Given the description of an element on the screen output the (x, y) to click on. 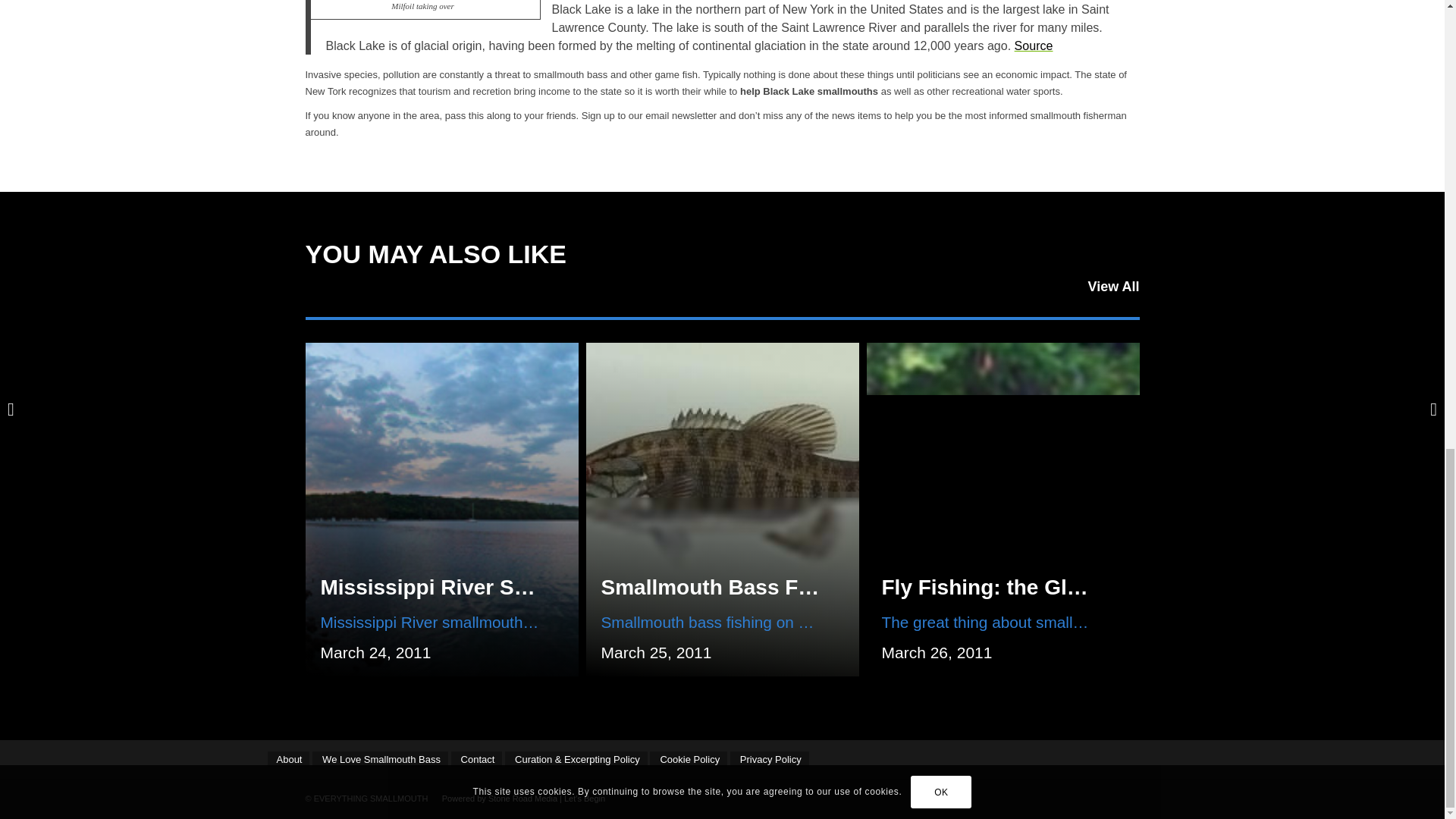
View All (1112, 286)
About (287, 759)
Fly Fishing: the Glover River Smallmouth (1088, 586)
Privacy Policy (769, 759)
Smallmouth Bass Fishing on Lake Erie (795, 586)
Contact (476, 759)
We Love Smallmouth Bass (380, 759)
Mississippi River Smallmouth Bass Fishing (539, 586)
Source (1033, 45)
Cookie Policy (687, 759)
